Given the description of an element on the screen output the (x, y) to click on. 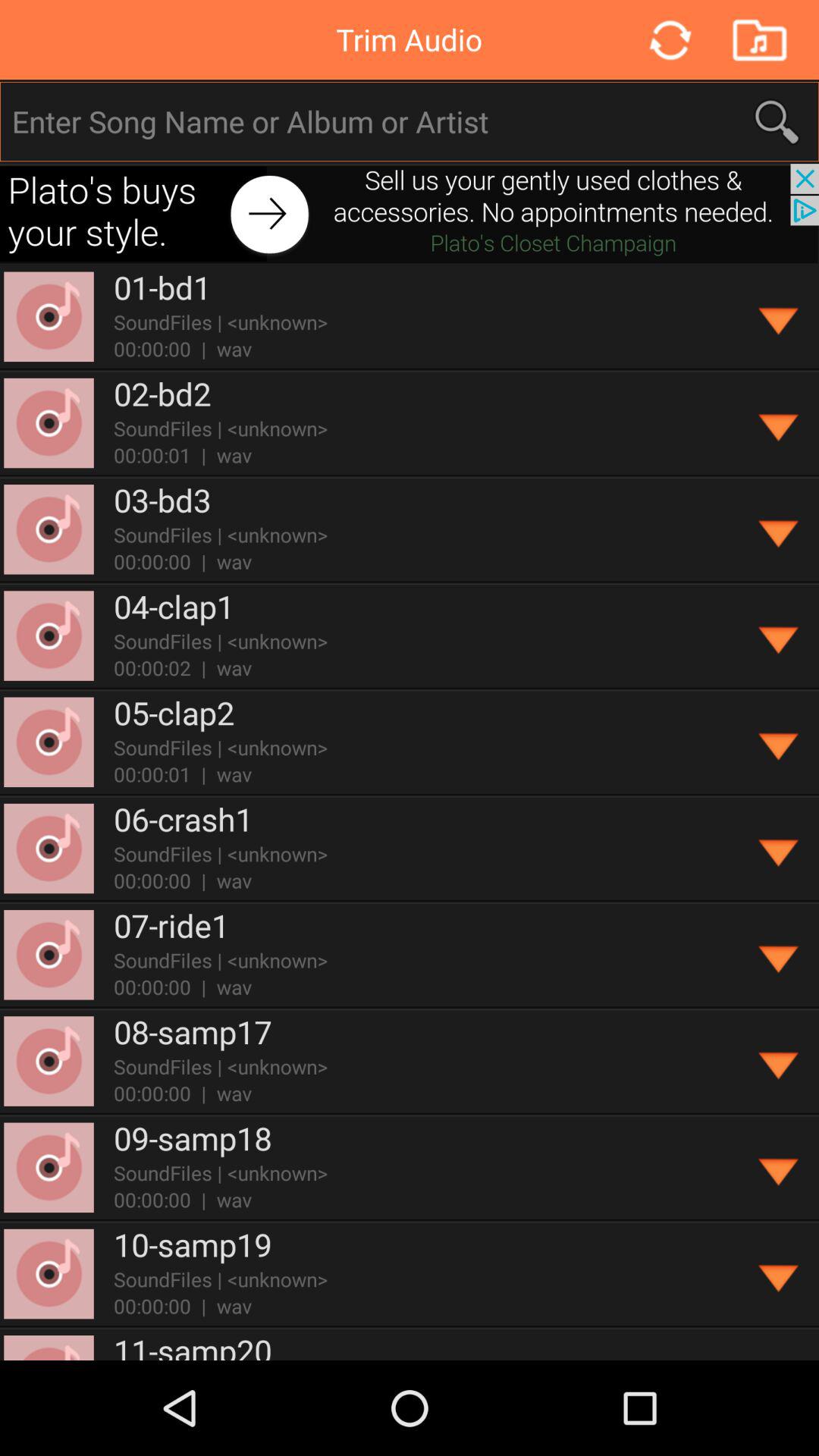
see more (779, 1167)
